Given the description of an element on the screen output the (x, y) to click on. 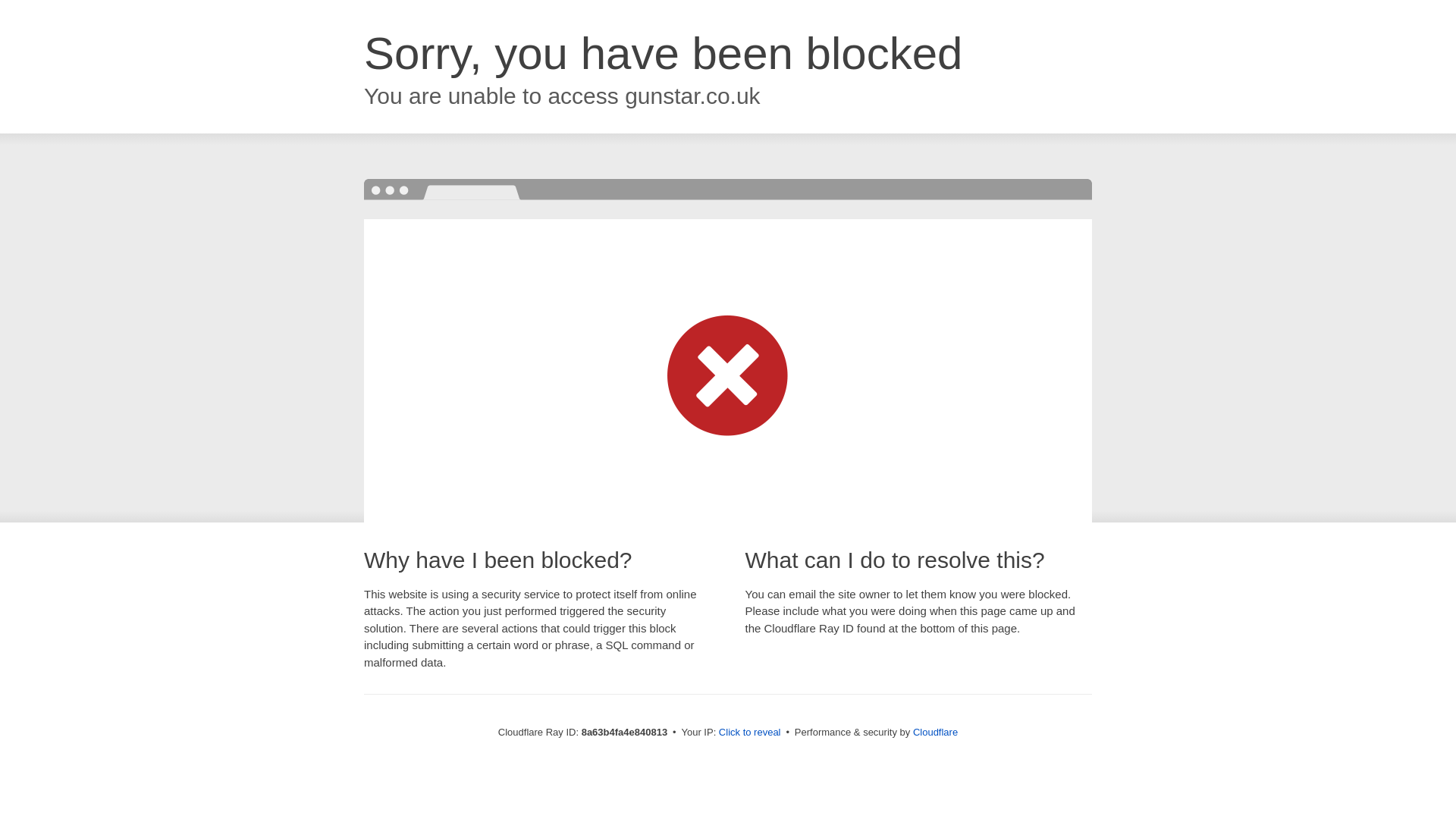
Click to reveal (749, 732)
Cloudflare (935, 731)
